Given the description of an element on the screen output the (x, y) to click on. 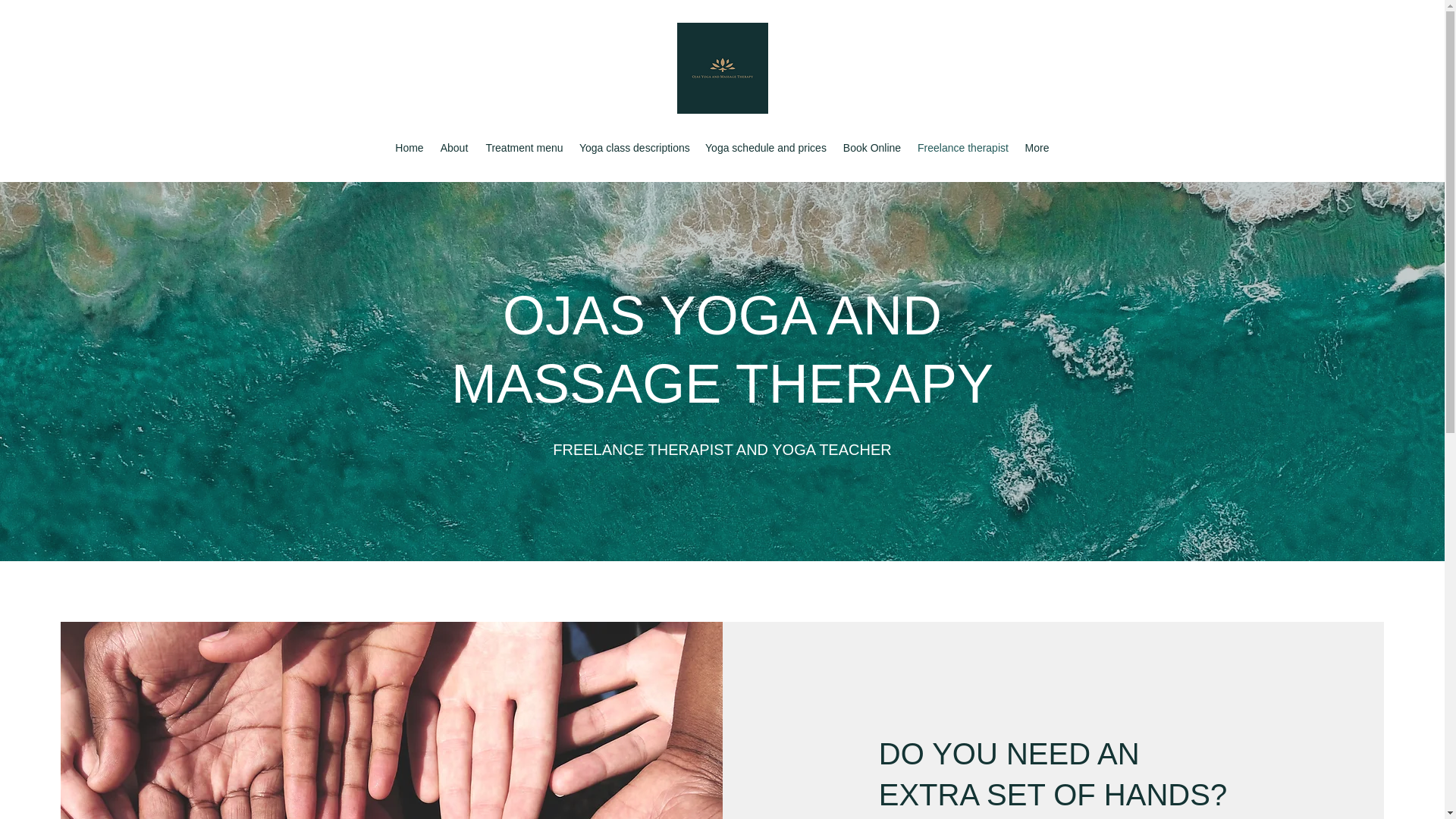
Home (408, 147)
About (453, 147)
Treatment menu (524, 147)
Book Online (871, 147)
Yoga schedule and prices (765, 147)
Freelance therapist (962, 147)
Yoga class descriptions (634, 147)
